Given the description of an element on the screen output the (x, y) to click on. 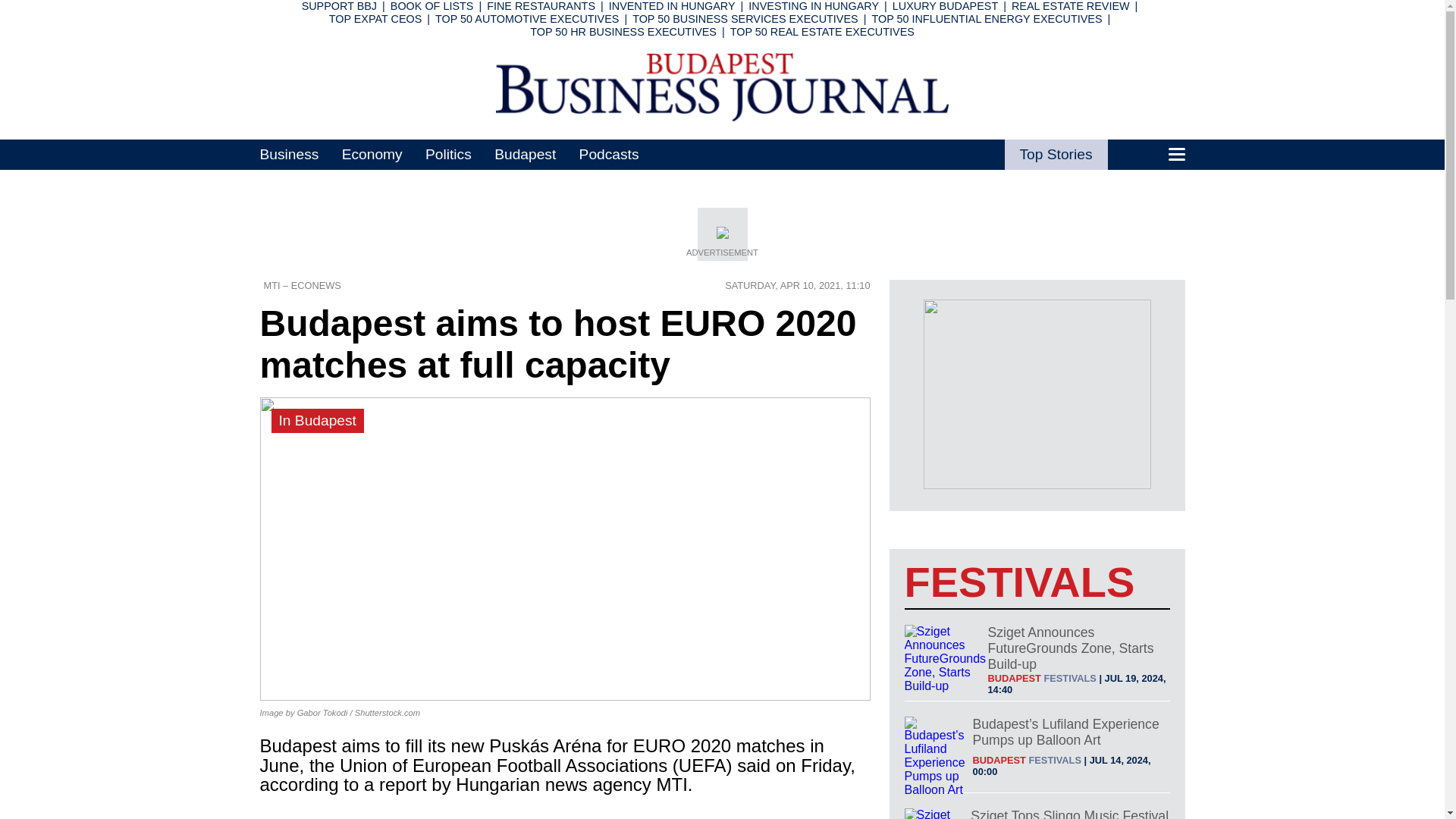
Foreign Affairs (796, 53)
Statistics (651, 33)
SUPPORT BBJ (339, 6)
TOP 50 HR BUSINESS EXECUTIVES (622, 31)
REAL ESTATE REVIEW (1070, 6)
INVENTED IN HUNGARY (671, 6)
Agriculture (657, 112)
Economy (655, 13)
Polls (761, 72)
INVESTING IN HUNGARY (813, 6)
Economy (372, 154)
FINE RESTAURANTS (540, 6)
Environment (665, 92)
Finance (647, 72)
Budapest (525, 154)
